Given the description of an element on the screen output the (x, y) to click on. 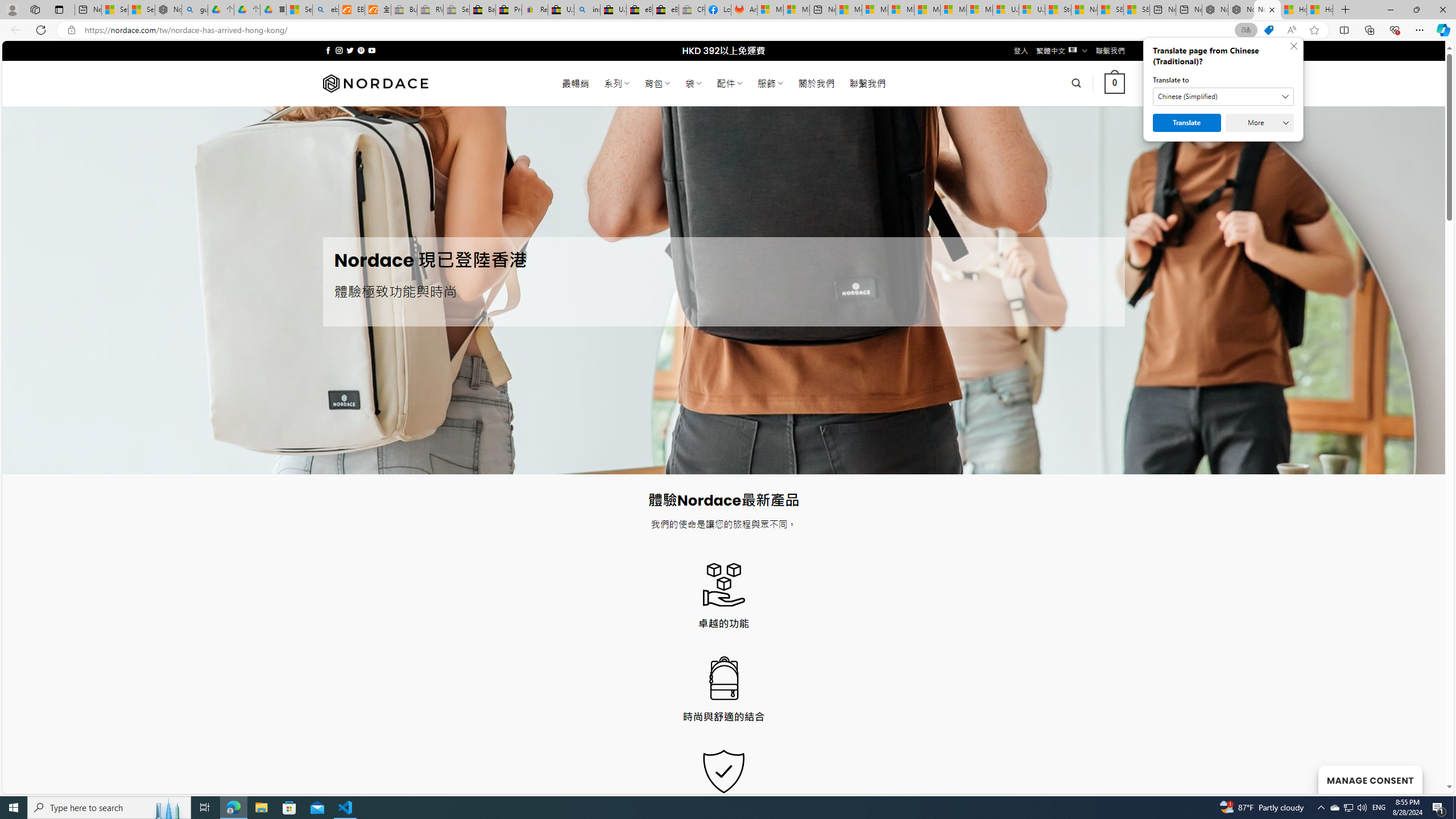
Follow on Instagram (338, 50)
Log into Facebook (717, 9)
MANAGE CONSENT (1369, 779)
U.S. State Privacy Disclosures - eBay Inc. (613, 9)
including - Search (587, 9)
